Given the description of an element on the screen output the (x, y) to click on. 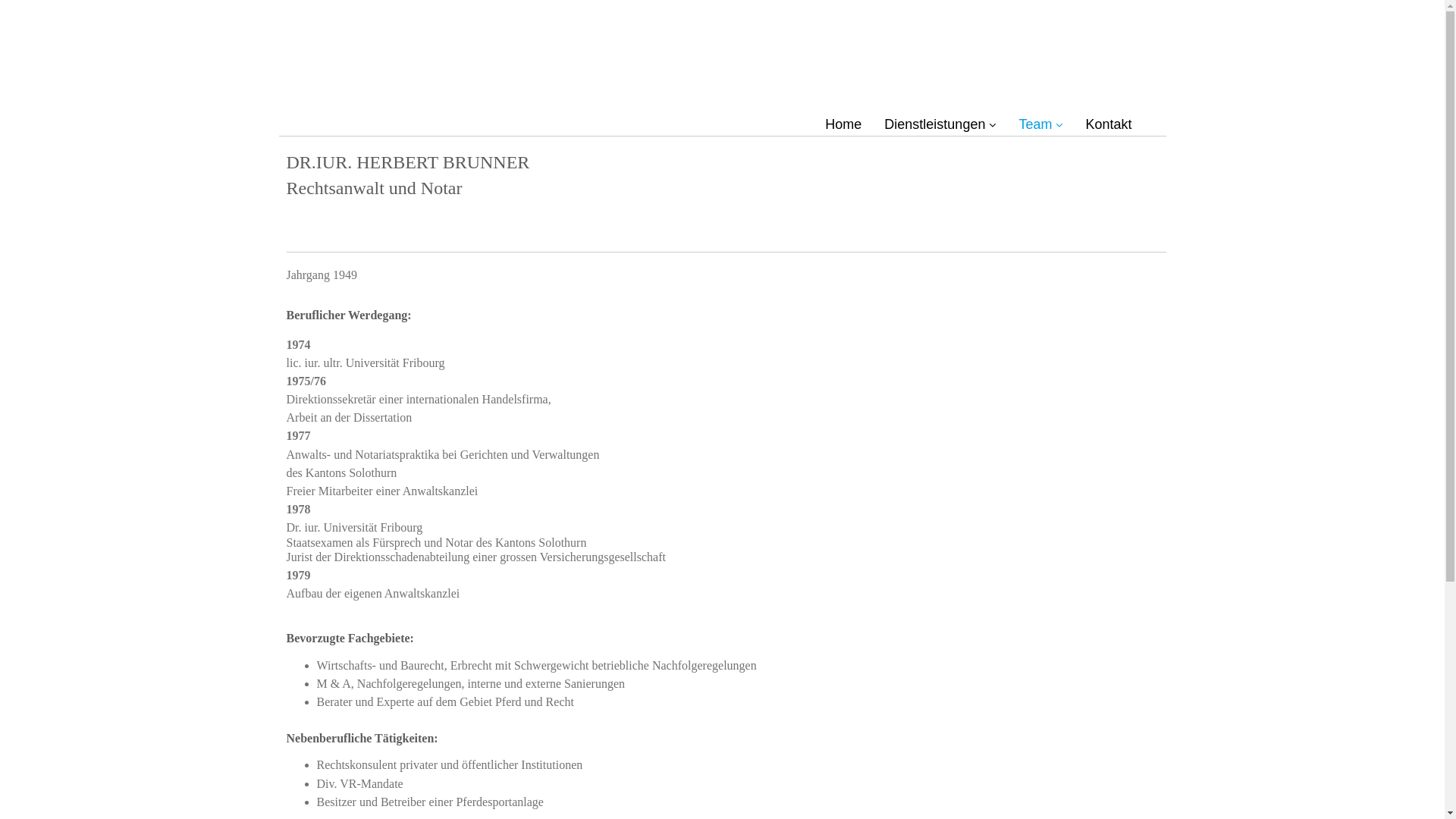
Team Element type: text (1040, 124)
Kontakt Element type: text (1108, 124)
Home Element type: text (843, 124)
Dienstleistungen Element type: text (939, 124)
